Given the description of an element on the screen output the (x, y) to click on. 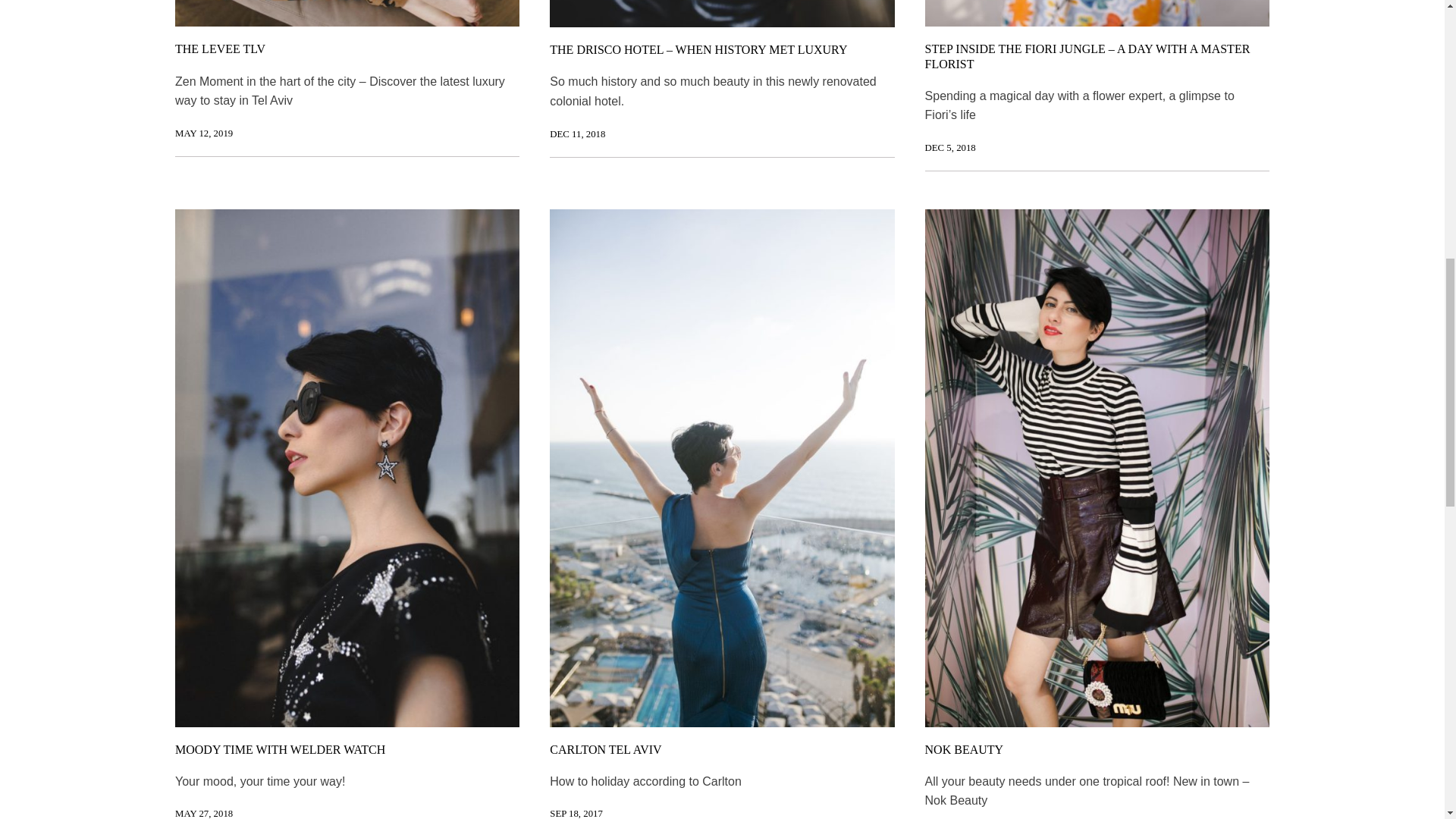
DEC 5, 2018 (949, 147)
Permalink to Moody Time with Welder Watch (203, 813)
Permalink to Carlton Tel Aviv (576, 813)
NOK BEAUTY (964, 748)
SEP 18, 2017 (576, 813)
THE LEVEE TLV (219, 48)
MAY 12, 2019 (203, 132)
MAY 27, 2018 (203, 813)
DEC 11, 2018 (577, 133)
Permalink to The Levee TLV (203, 132)
MOODY TIME WITH WELDER WATCH (279, 748)
CARLTON TEL AVIV (605, 748)
